Given the description of an element on the screen output the (x, y) to click on. 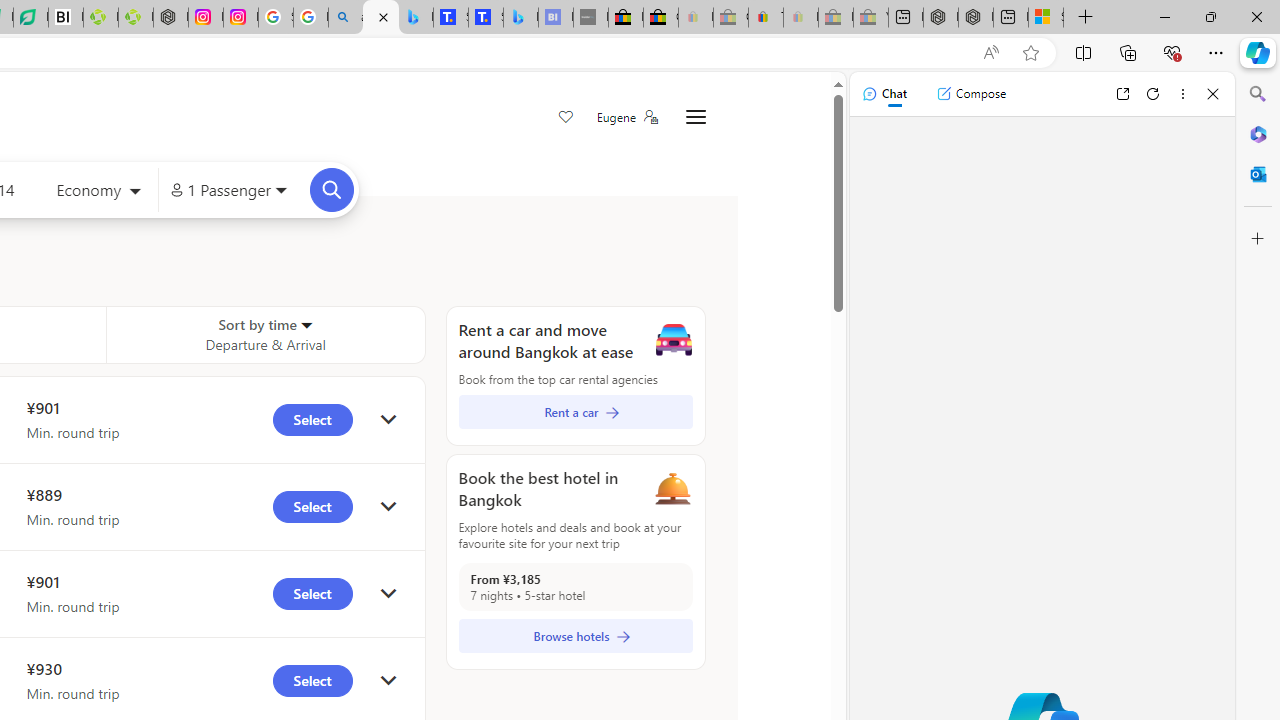
Shangri-La Bangkok, Hotel reviews and Room rates (485, 17)
Yard, Garden & Outdoor Living - Sleeping (870, 17)
Sign in to your Microsoft account (1046, 17)
Sorter (306, 324)
Select class of service (98, 192)
Nvidia va a poner a prueba la paciencia de los inversores (65, 17)
